Given the description of an element on the screen output the (x, y) to click on. 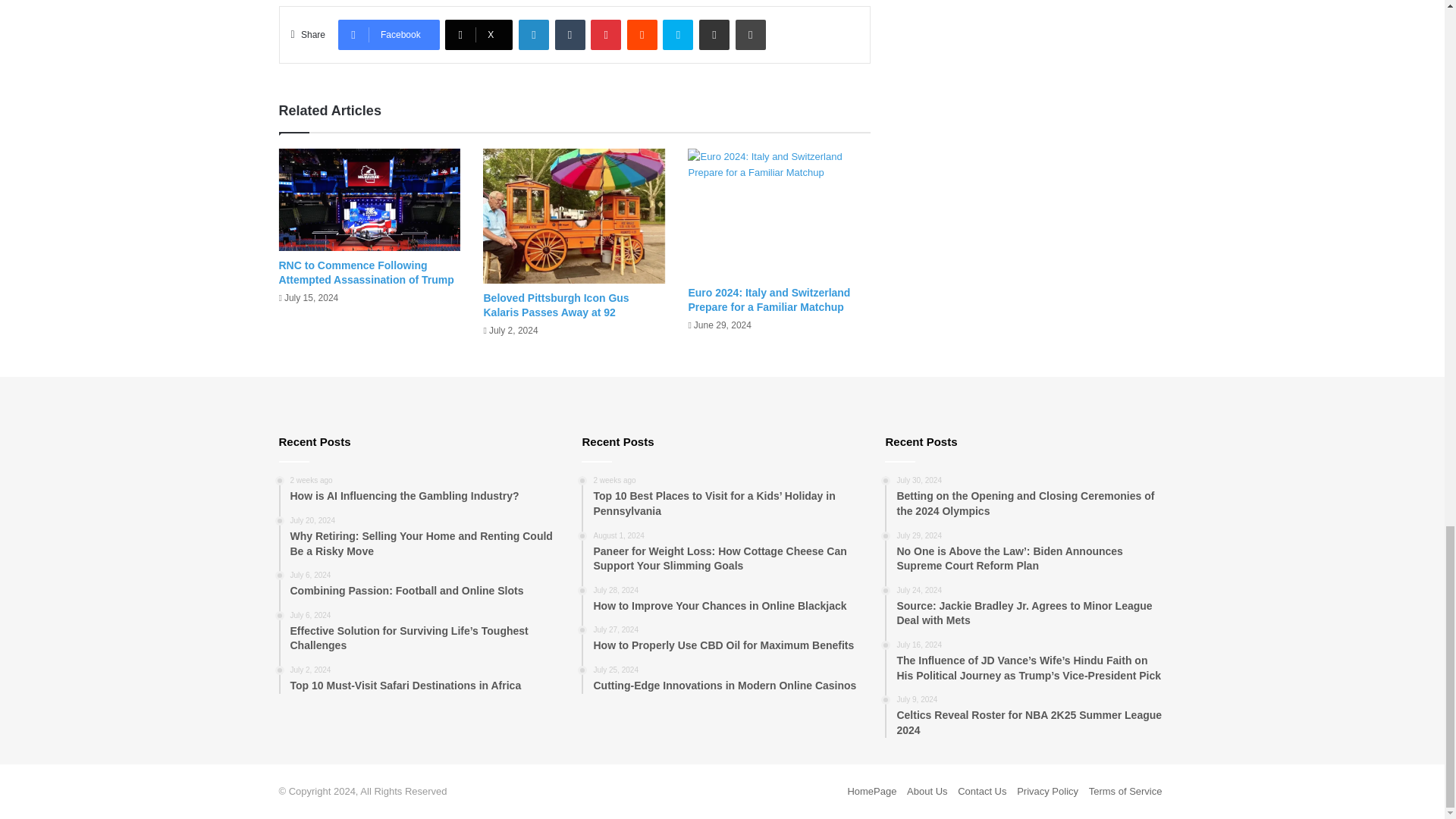
Tumblr (569, 34)
LinkedIn (533, 34)
RNC to Commence Following Attempted Assassination of Trump (366, 272)
LinkedIn (533, 34)
Share via Email (713, 34)
Print (750, 34)
Facebook (388, 34)
Facebook (388, 34)
Skype (677, 34)
Pinterest (606, 34)
